Given the description of an element on the screen output the (x, y) to click on. 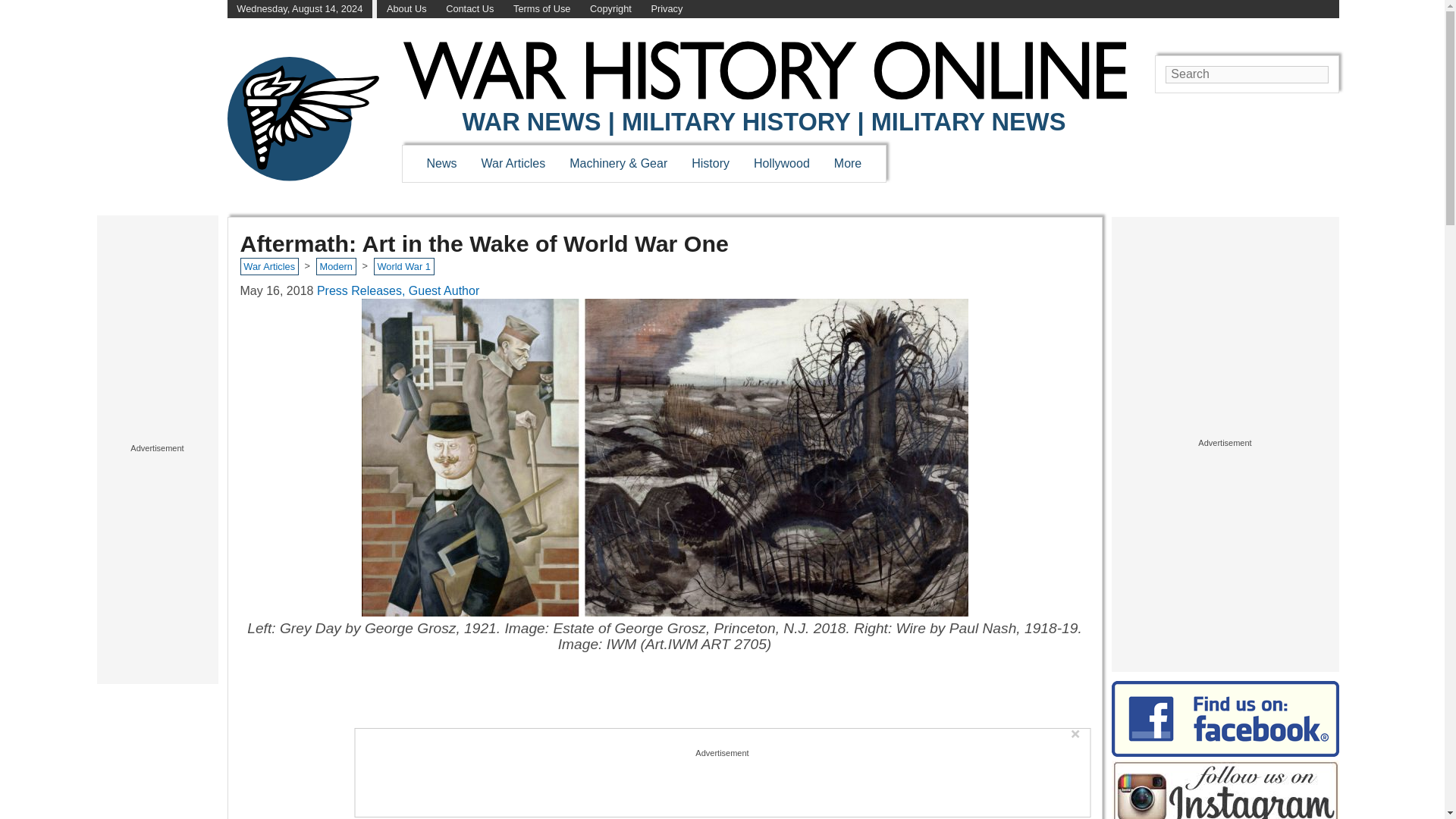
Copyright (610, 8)
History (710, 163)
Contact Us (469, 8)
Terms of Use (541, 8)
Hollywood (781, 163)
War Articles (513, 163)
More (847, 163)
Privacy (666, 8)
News (441, 163)
About Us (406, 8)
